Given the description of an element on the screen output the (x, y) to click on. 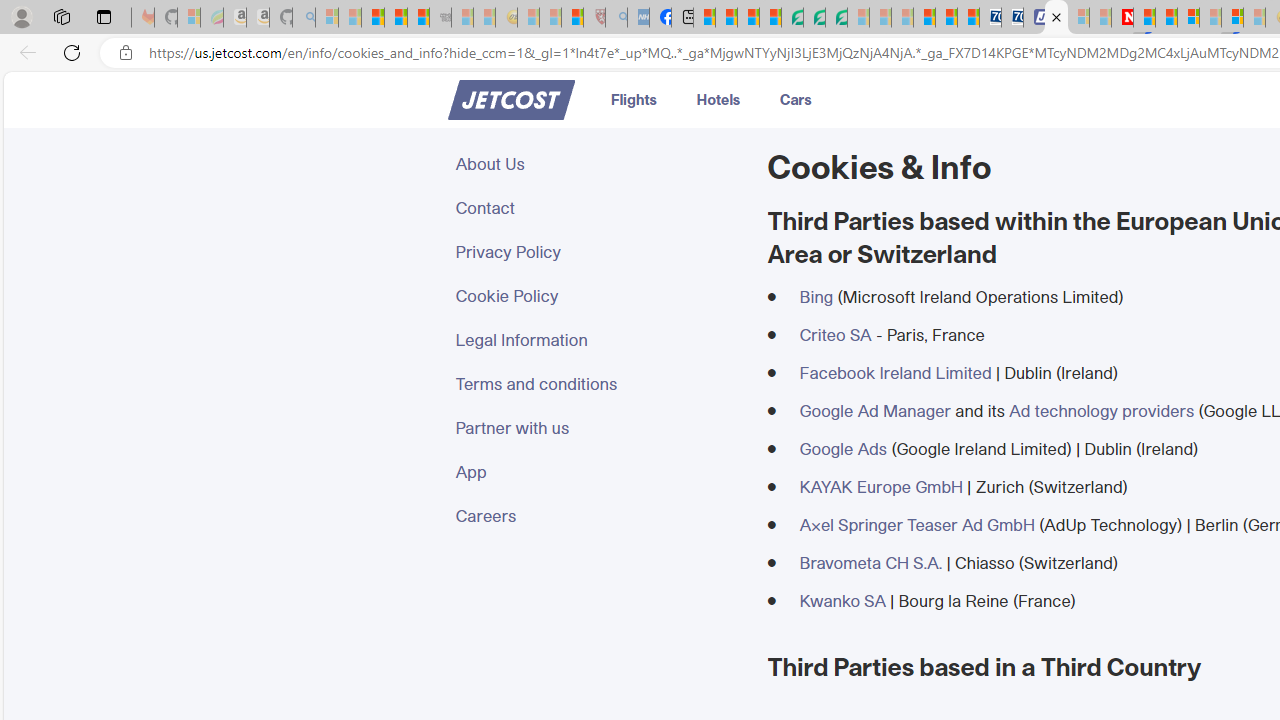
Ad technology providers (1101, 410)
LendingTree - Compare Lenders (792, 17)
Latest Politics News & Archive | Newsweek.com (1122, 17)
Google Ads (842, 448)
Careers (599, 515)
Axel Springer Teaser Ad GmbH (916, 524)
Bravometa CH S.A. (870, 561)
